Given the description of an element on the screen output the (x, y) to click on. 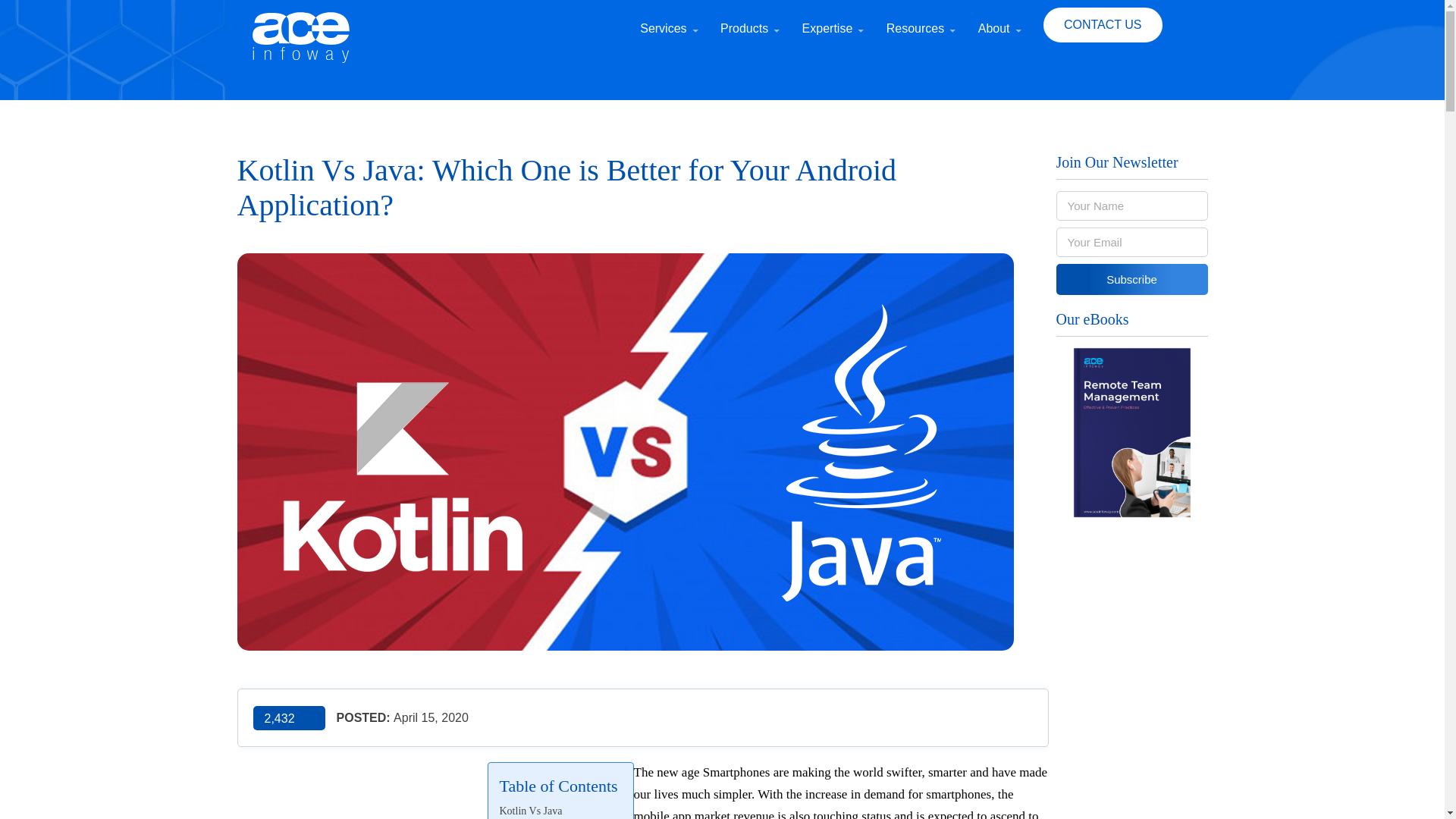
Products (749, 40)
Kotlin Vs Java (530, 811)
Subscribe (1131, 278)
Expertise (833, 40)
Resources (920, 40)
Services (668, 40)
